Given the description of an element on the screen output the (x, y) to click on. 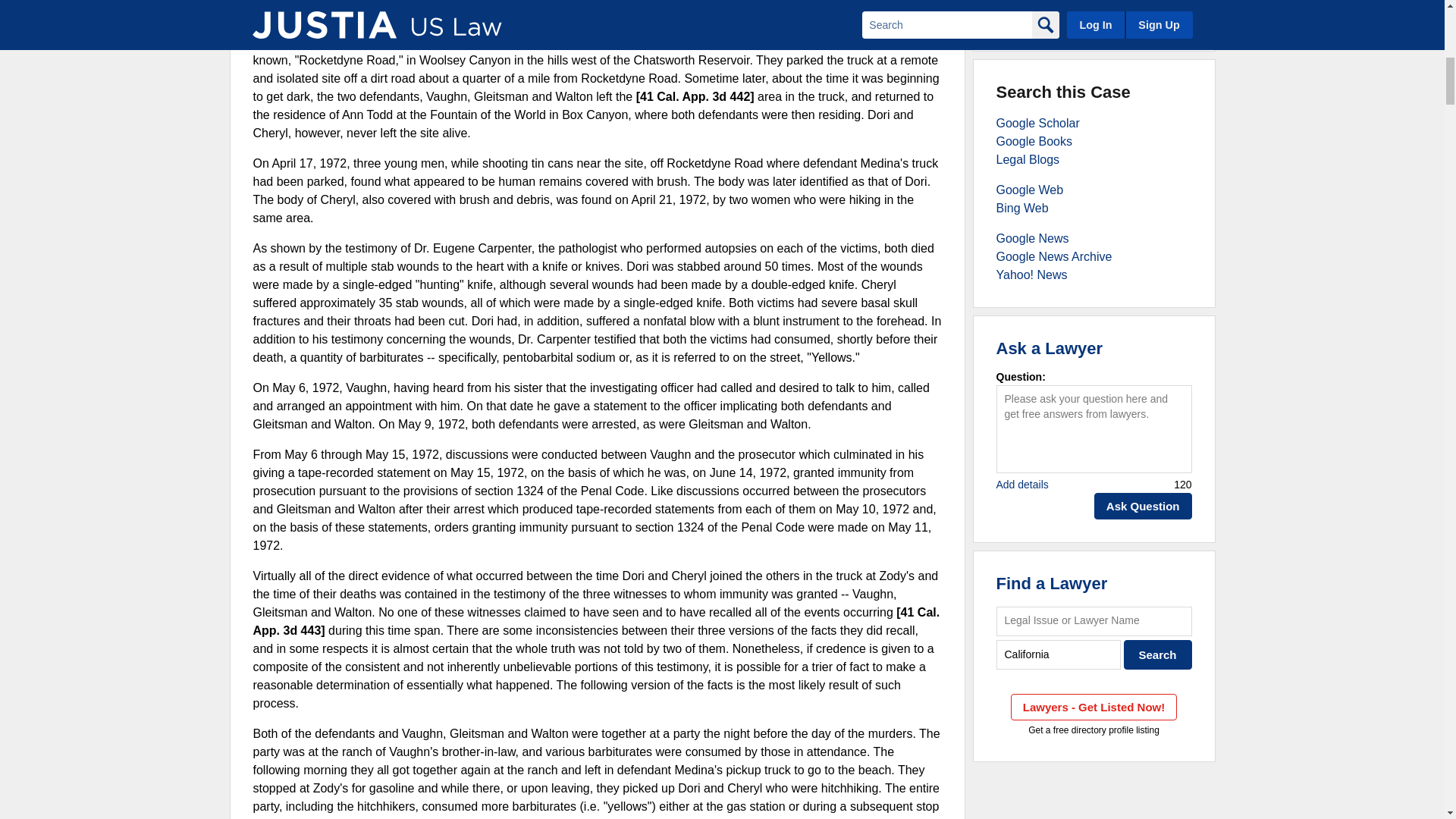
Law - Bing Web (1021, 207)
Search (1158, 654)
Legal Issue or Lawyer Name (1093, 621)
Law - Google Web (1029, 189)
Law - Google News (1031, 237)
California (1058, 654)
Law - Yahoo! News (1031, 274)
City, State (1058, 654)
Law - Google Books (1034, 141)
